Given the description of an element on the screen output the (x, y) to click on. 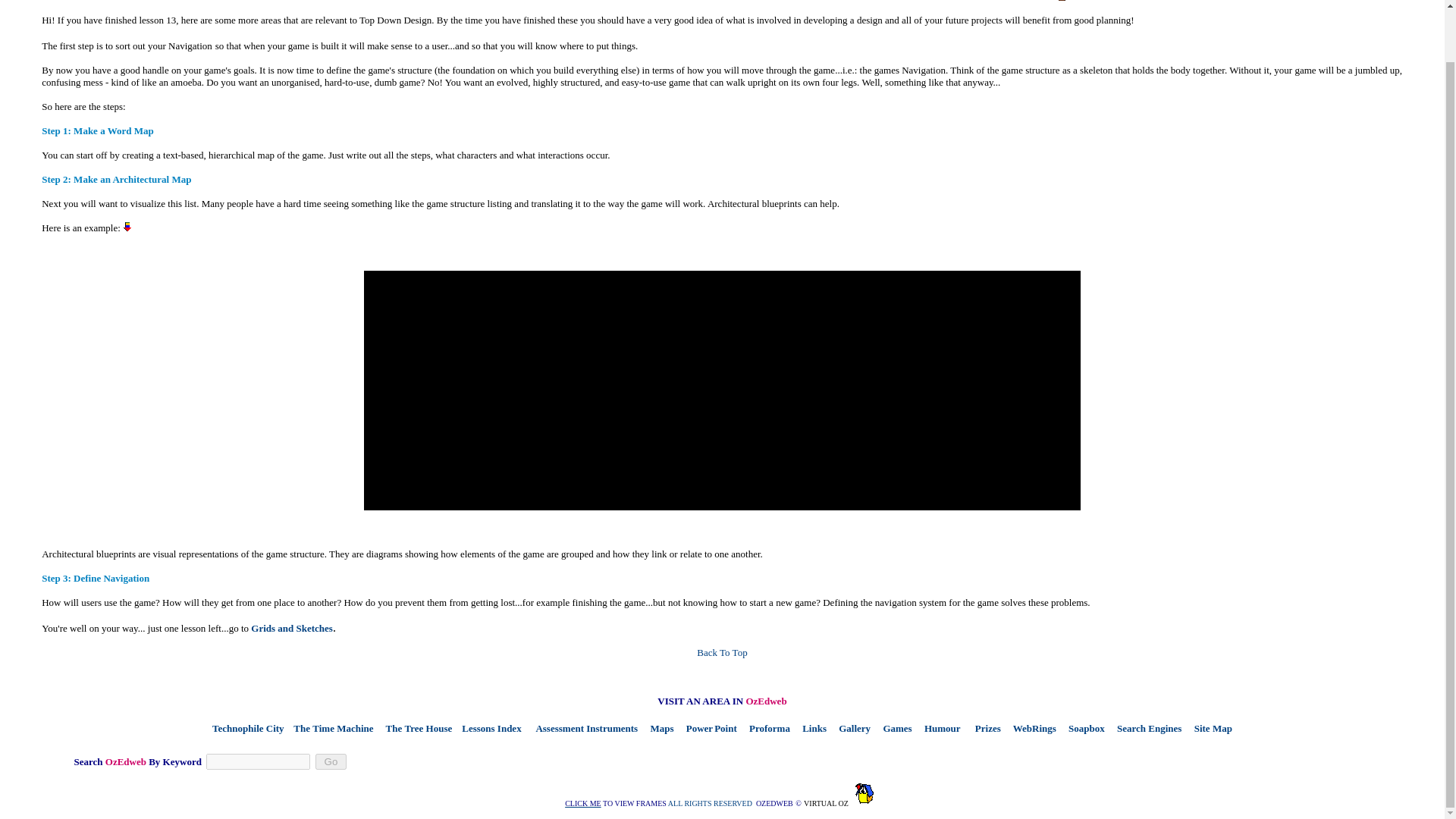
   Search.Engines (1144, 727)
   Power.Point (707, 727)
   Humour (938, 727)
Back To Top (721, 651)
   The.Time.Machine (330, 727)
Technophile.City (247, 727)
   Lessons.Index (487, 727)
CLICK ME (582, 803)
   WebRings (1031, 727)
   Maps (658, 727)
